Given the description of an element on the screen output the (x, y) to click on. 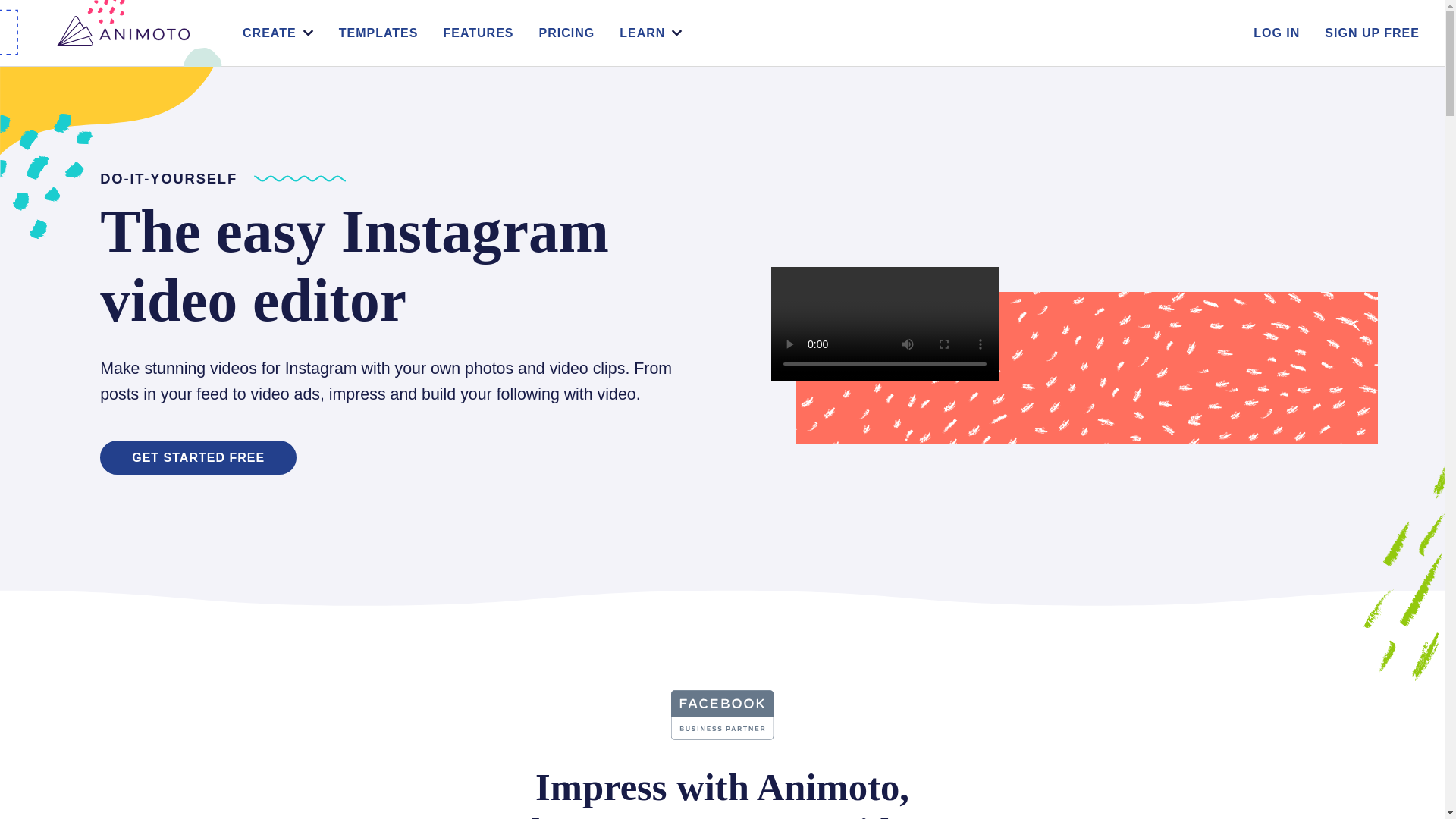
GET STARTED FREE (198, 457)
SIGN UP FREE (1371, 33)
FEATURES (477, 33)
PRICING (566, 33)
LOG IN (1276, 33)
LEARN (642, 33)
Caret (308, 32)
Caret (676, 32)
TEMPLATES (379, 33)
CREATE (270, 33)
